Given the description of an element on the screen output the (x, y) to click on. 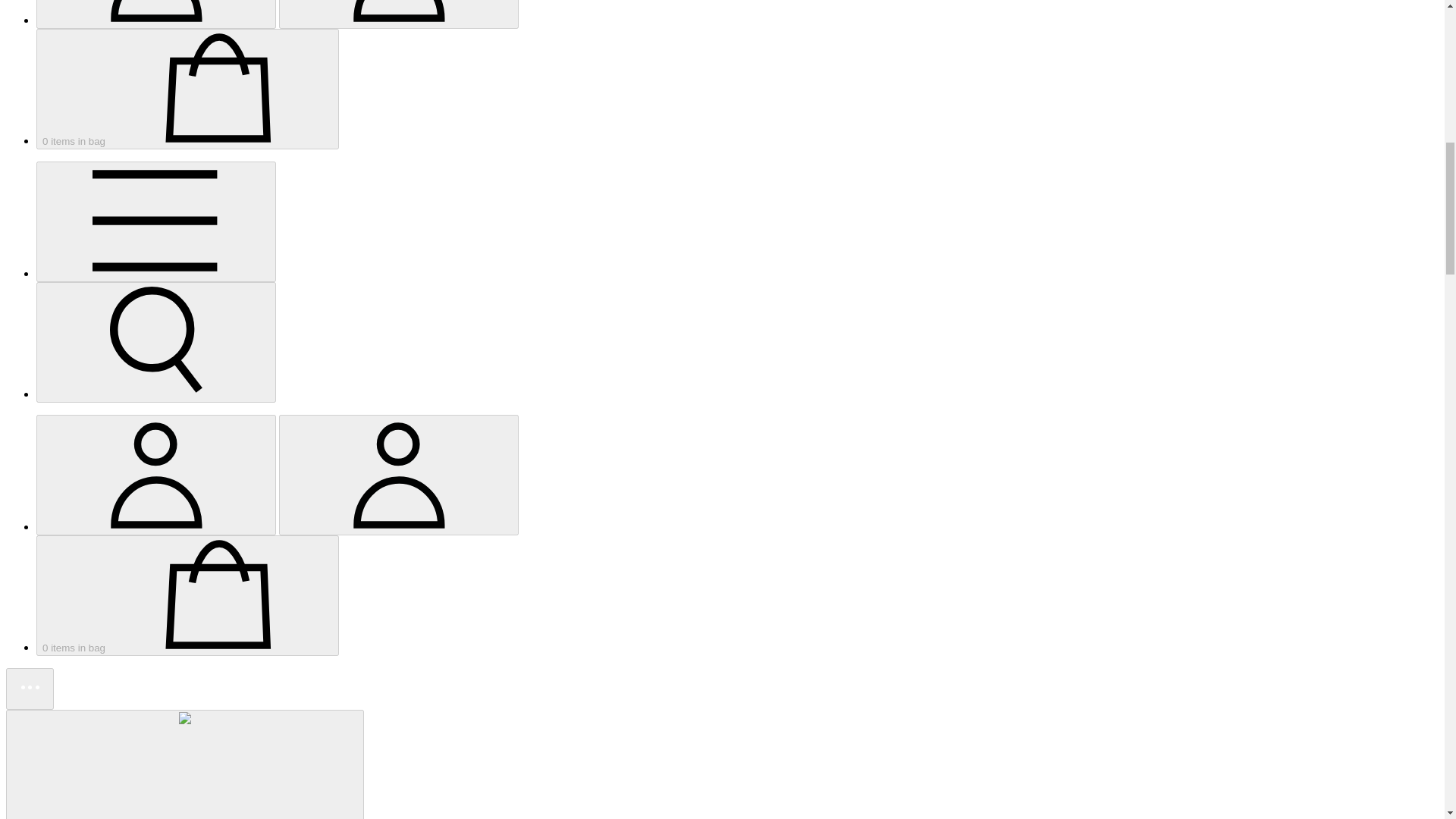
Account (156, 474)
Chat Now (29, 689)
Account (398, 474)
Account (398, 14)
Account (155, 473)
Search (156, 341)
Account (398, 12)
0 items in bag (187, 88)
Menu (155, 220)
Account (156, 14)
